Given the description of an element on the screen output the (x, y) to click on. 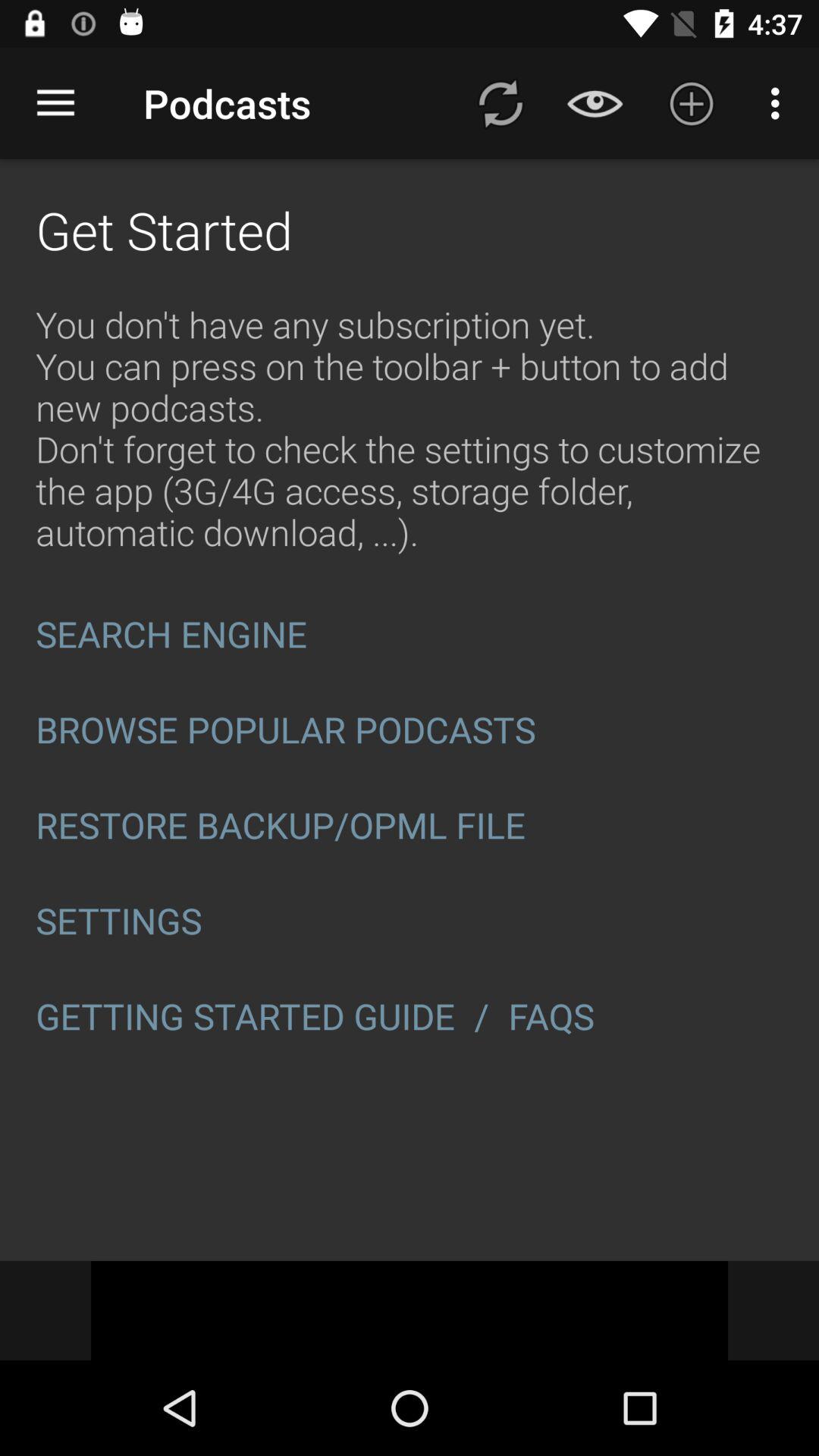
launch faqs (556, 1016)
